Given the description of an element on the screen output the (x, y) to click on. 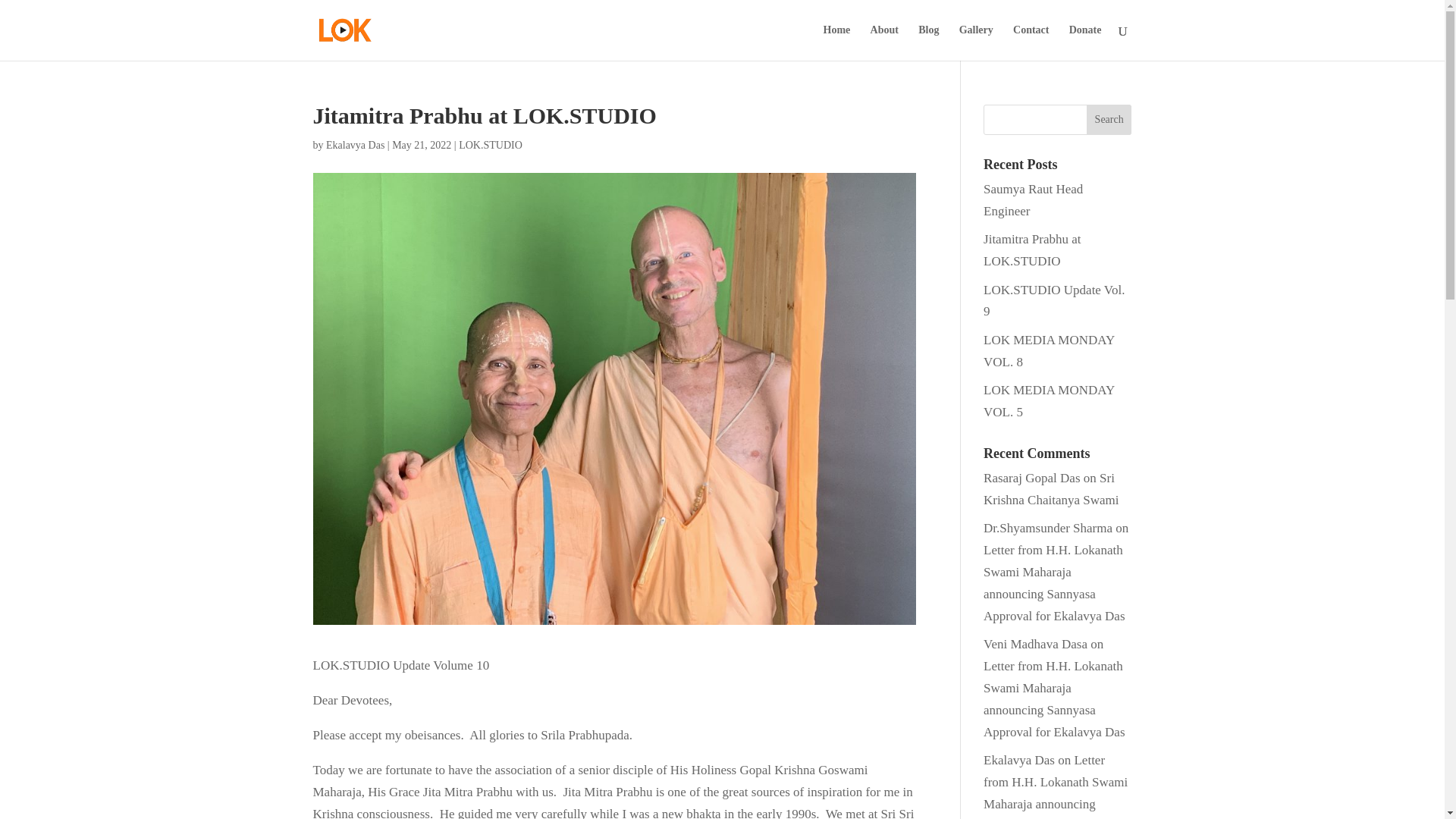
Ekalavya Das (1019, 759)
Search (1109, 119)
LOK.STUDIO Update Vol. 9 (1054, 300)
Sri Krishna Chaitanya Swami (1051, 488)
Donate (1085, 42)
Ekalavya Das (355, 144)
Gallery (975, 42)
Contact (1030, 42)
LOK.STUDIO (490, 144)
Jitamitra Prabhu at LOK.STUDIO (1032, 249)
LOK MEDIA MONDAY VOL. 8 (1049, 350)
LOK MEDIA MONDAY VOL. 5 (1049, 401)
